Given the description of an element on the screen output the (x, y) to click on. 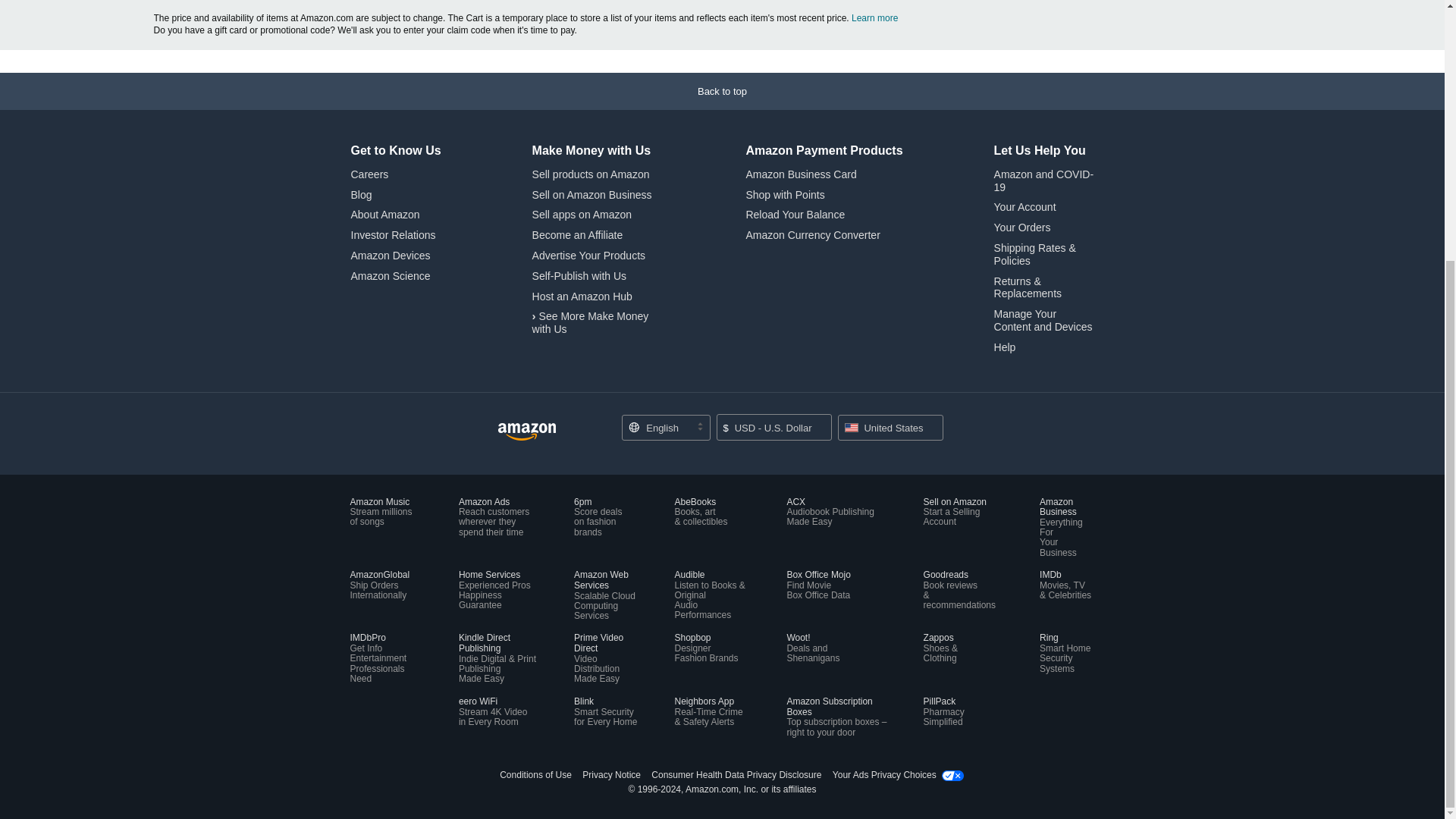
Amazon Devices (389, 255)
Careers (369, 174)
Host an Amazon Hub (581, 296)
Self-Publish with Us (579, 275)
About Amazon (384, 214)
Amazon Science (389, 275)
Advertise Your Products (588, 255)
Sell products on Amazon (590, 174)
Investor Relations (392, 234)
Sell apps on Amazon (581, 214)
